Given the description of an element on the screen output the (x, y) to click on. 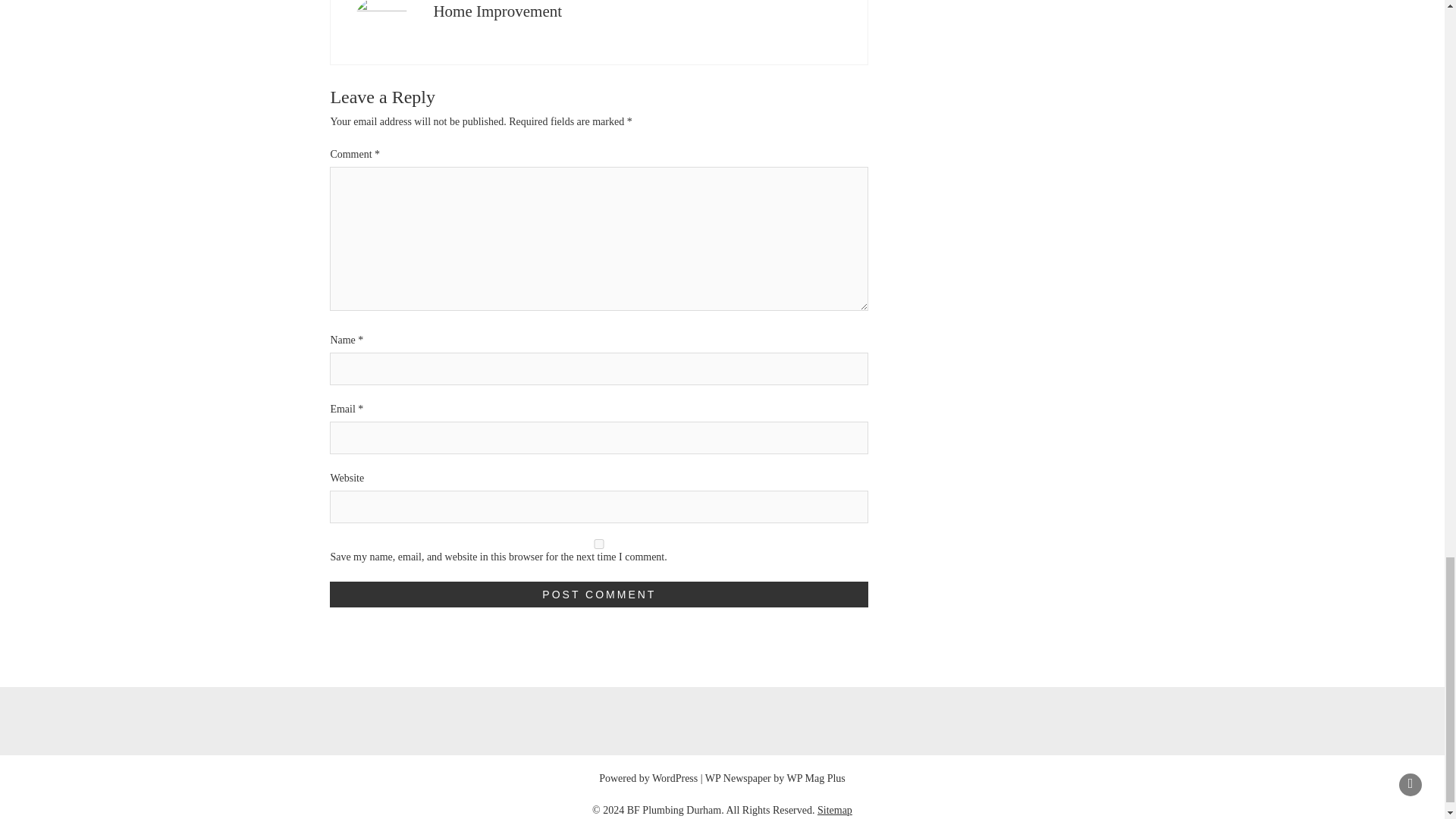
WP Newspaper by WP Mag Plus (774, 778)
Sitemap (833, 809)
Home Improvement (497, 11)
WordPress (674, 778)
Post Comment (598, 594)
yes (598, 543)
Post Comment (598, 594)
